Given the description of an element on the screen output the (x, y) to click on. 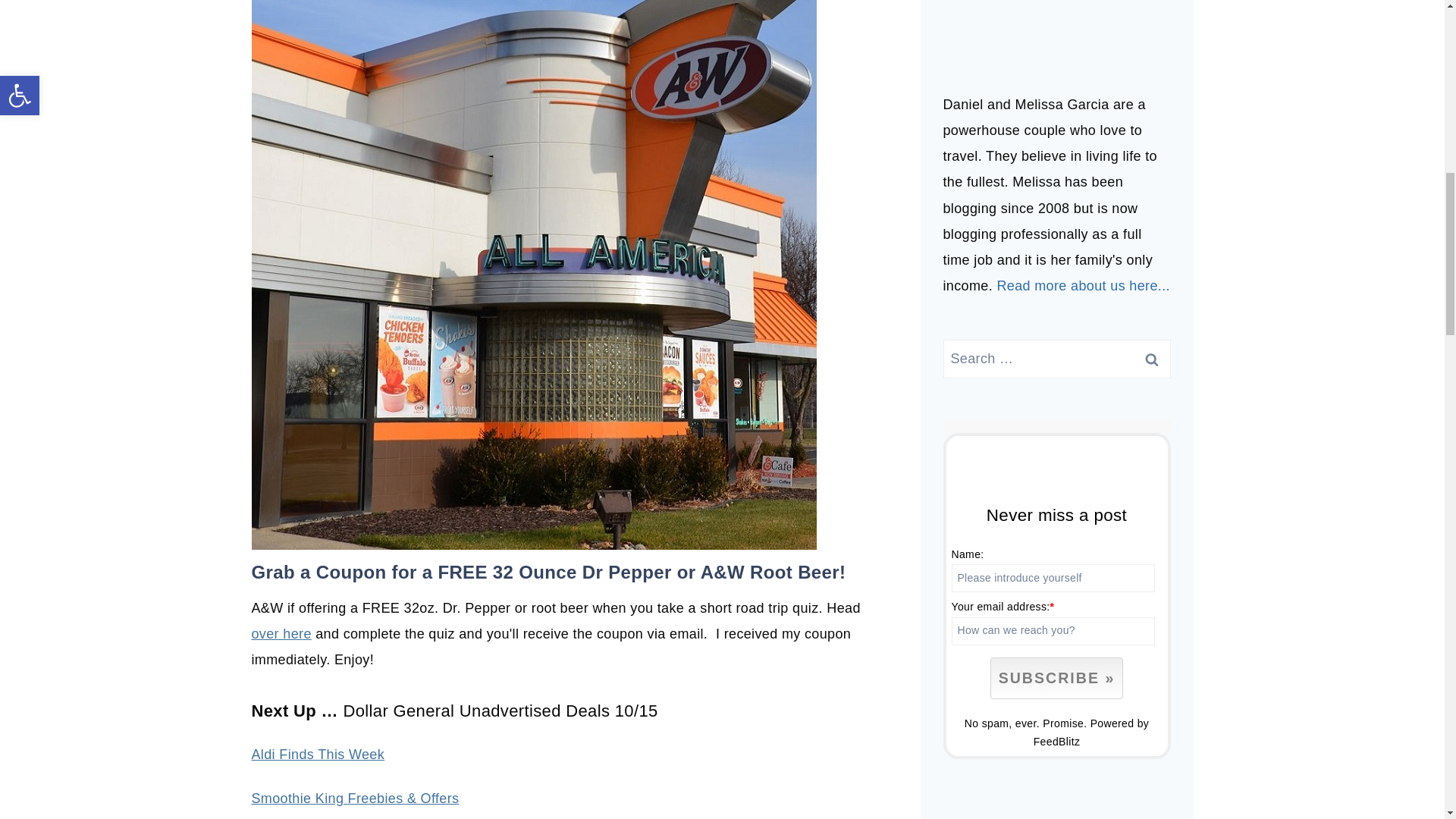
Please introduce yourself (1052, 578)
How can we reach you? (1052, 631)
click to join (1056, 678)
Search (1151, 358)
Search (1151, 358)
